Given the description of an element on the screen output the (x, y) to click on. 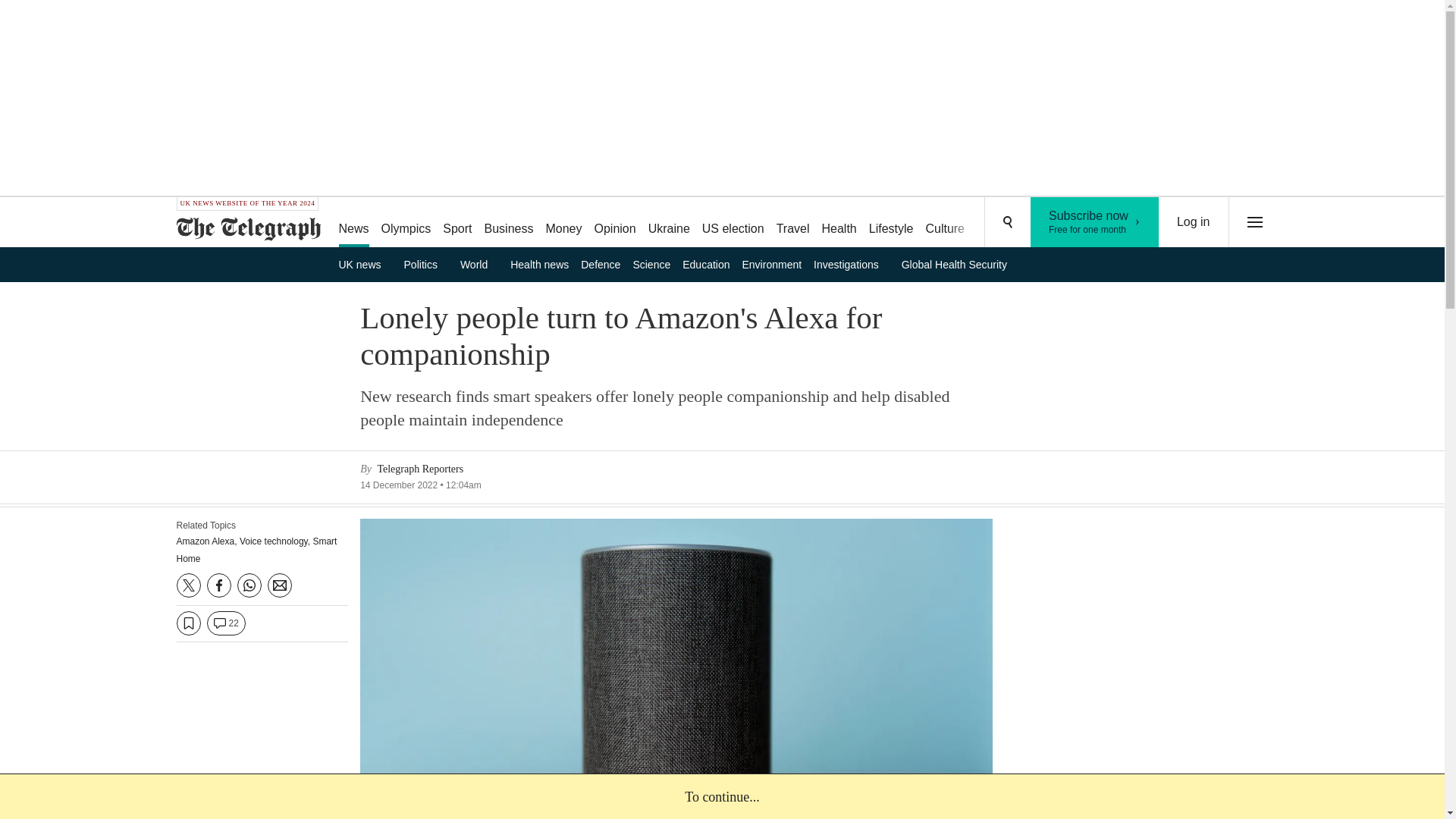
Opinion (615, 223)
Log in (1193, 222)
Culture (944, 223)
Money (563, 223)
Podcasts (1056, 223)
US election (732, 223)
Puzzles (998, 223)
Lifestyle (891, 223)
Business (509, 223)
Health (838, 223)
Politics (425, 264)
World (478, 264)
Olympics (1094, 222)
UK news (406, 223)
